Given the description of an element on the screen output the (x, y) to click on. 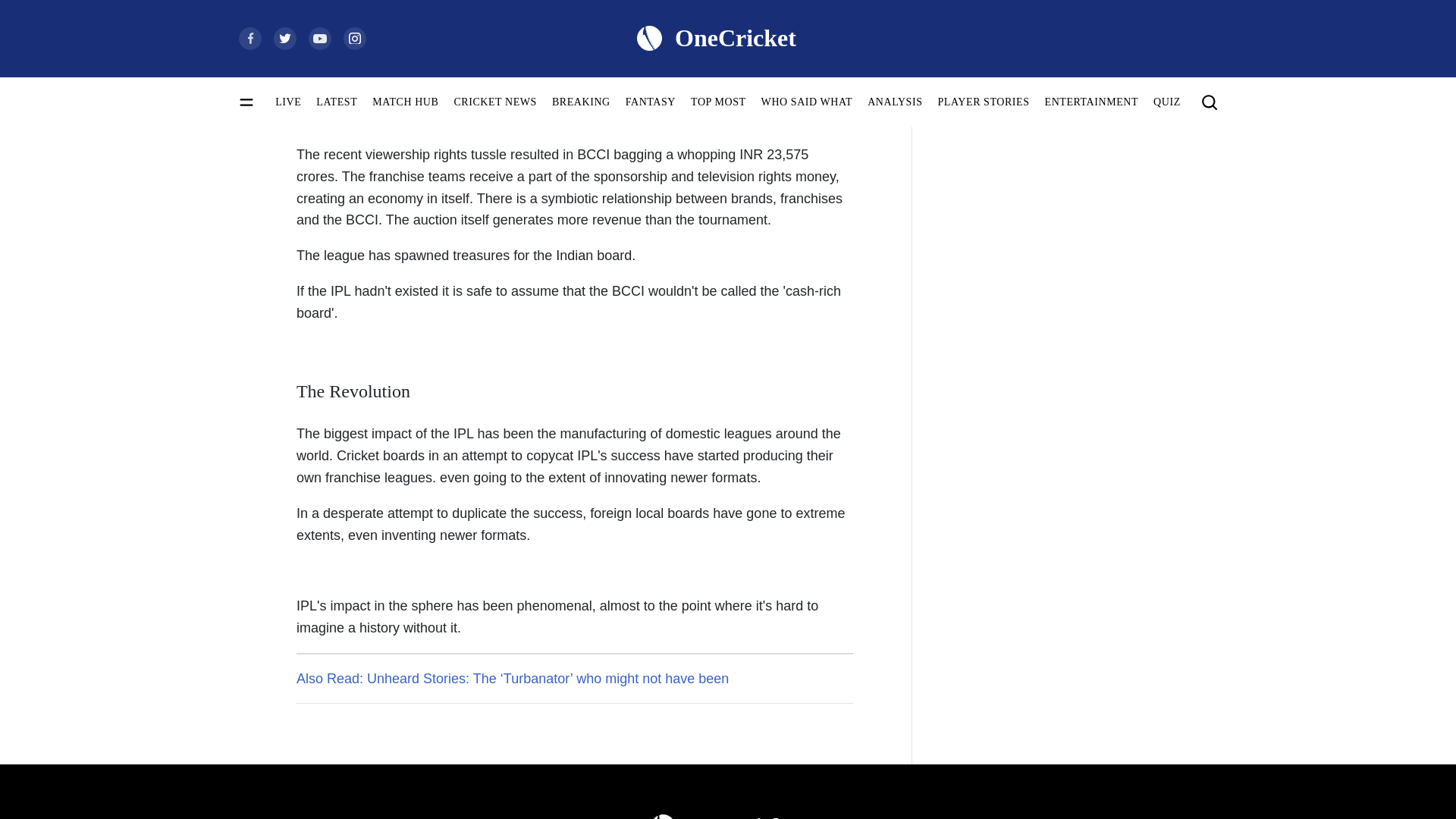
OneCricket (727, 812)
